Given the description of an element on the screen output the (x, y) to click on. 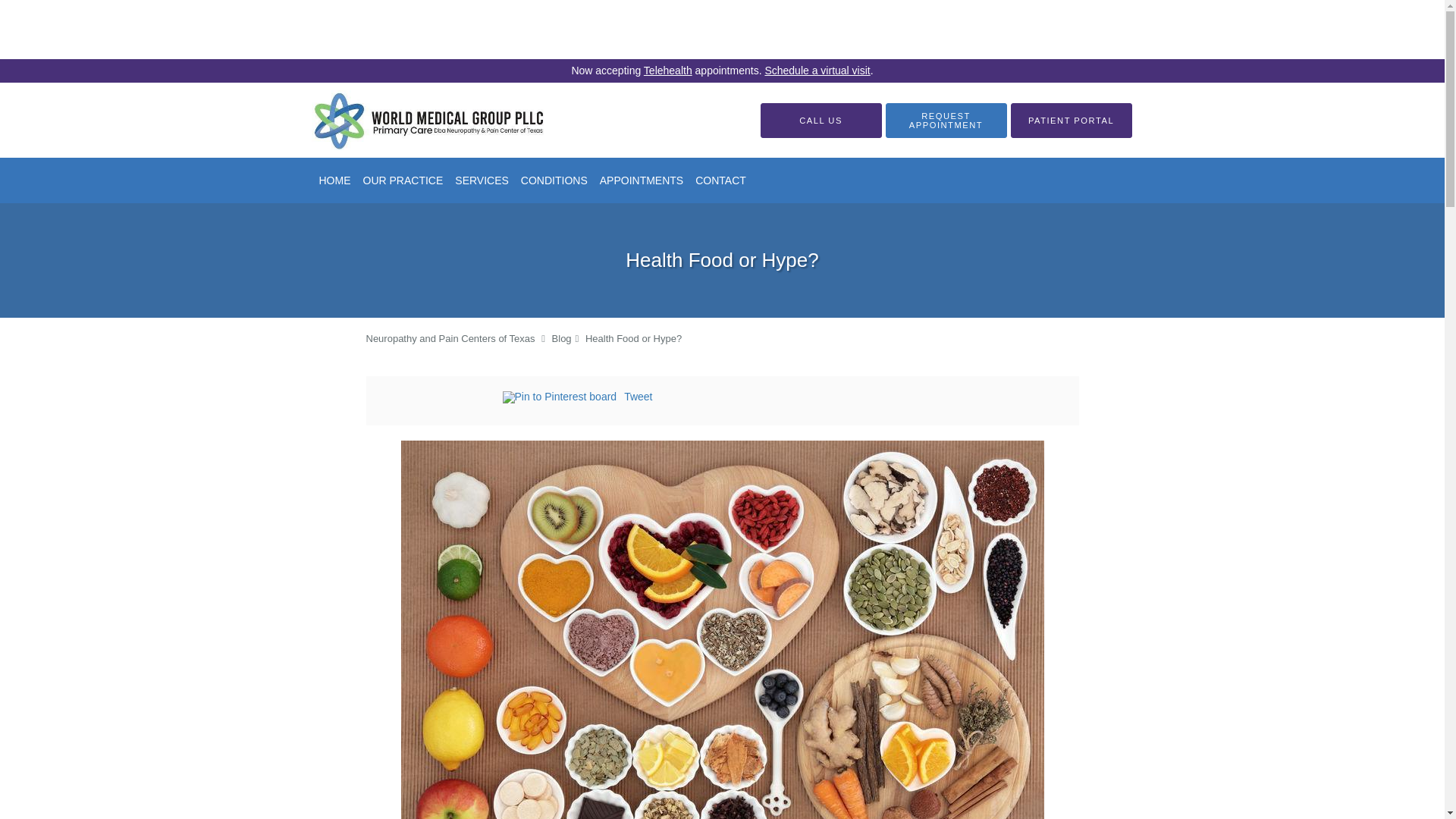
Telehealth (668, 70)
REQUEST APPOINTMENT (946, 120)
Facebook social button (441, 399)
Schedule a virtual visit (816, 70)
APPOINTMENTS (641, 180)
CALL US (820, 120)
OUR PRACTICE (402, 180)
SERVICES (481, 180)
CONDITIONS (554, 180)
HOME (334, 180)
PATIENT PORTAL (1070, 120)
